Given the description of an element on the screen output the (x, y) to click on. 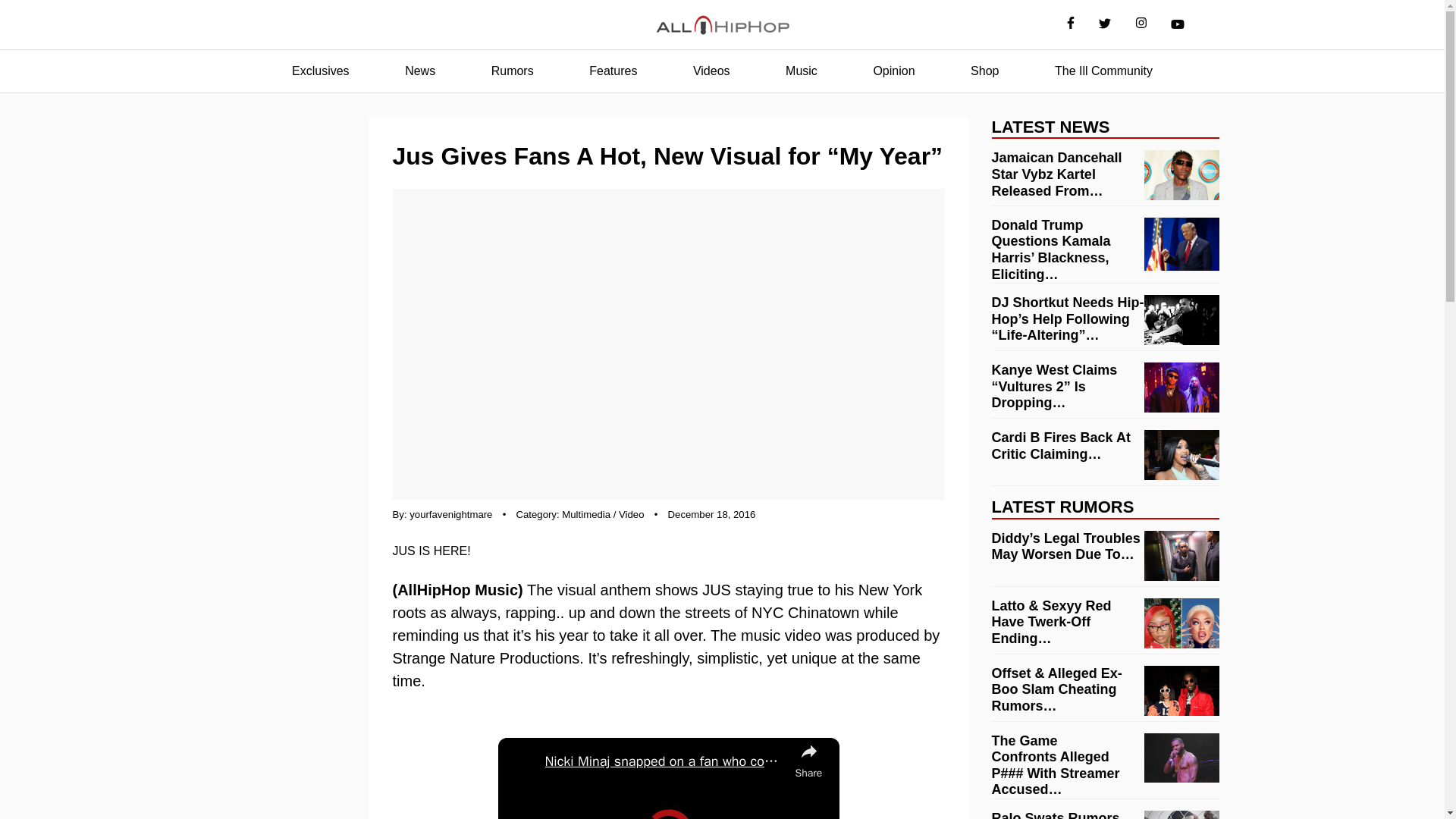
Videos (711, 70)
Features (612, 70)
yourfavenightmare (450, 514)
Shop (984, 70)
News (419, 70)
AllHipHop (722, 25)
Music (801, 70)
December 18, 2016 (711, 514)
The Ill Community (1103, 70)
Exclusives (320, 70)
Rumors (512, 70)
Opinion (893, 70)
